Given the description of an element on the screen output the (x, y) to click on. 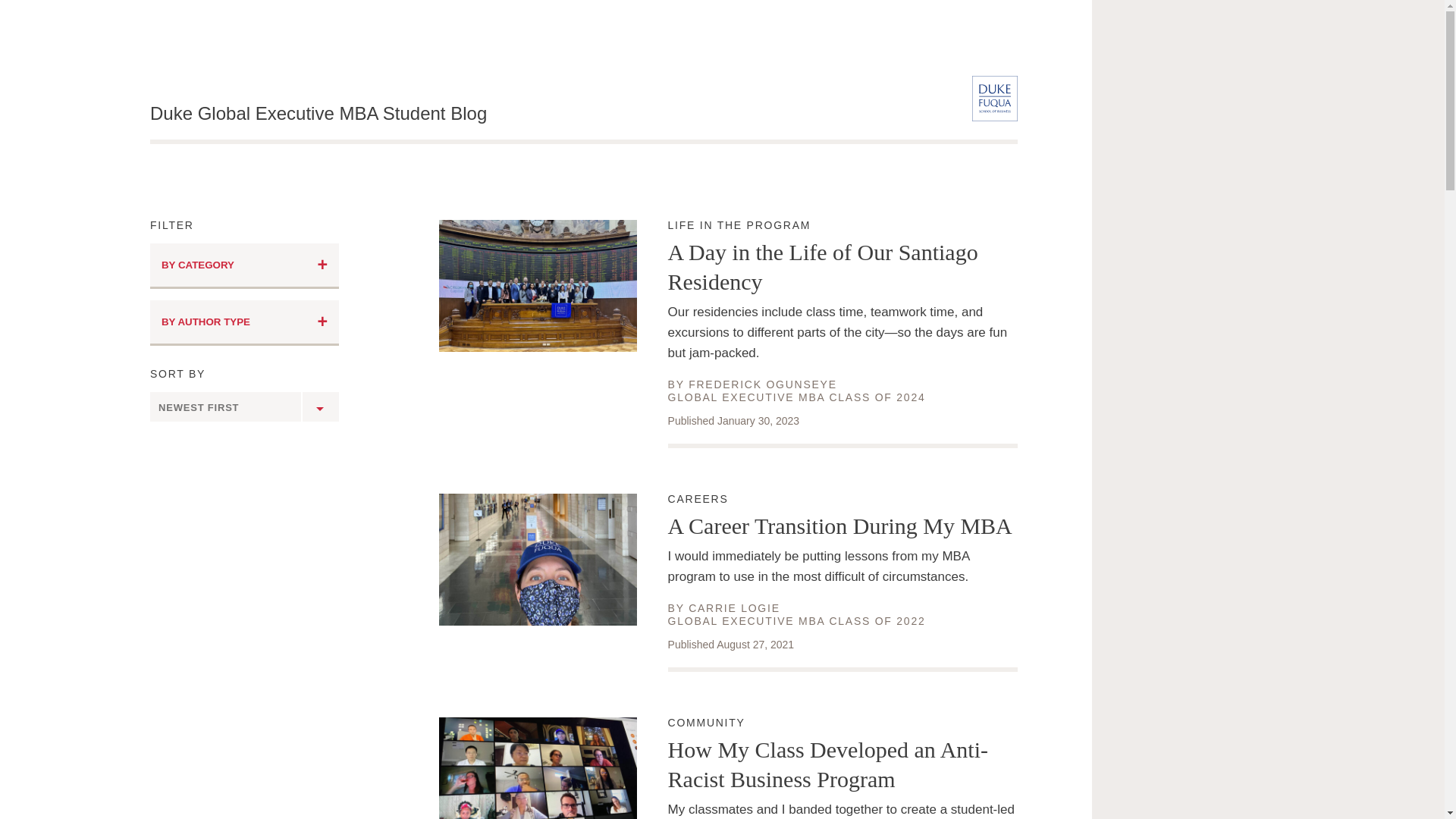
BY CATEGORY (842, 499)
Duke Global Executive MBA Student Blog (734, 607)
BY AUTHOR TYPE (244, 266)
How My Class Developed an Anti-Racist Business Program (317, 113)
A Day in the Life of Our Santiago Residency (244, 322)
